Given the description of an element on the screen output the (x, y) to click on. 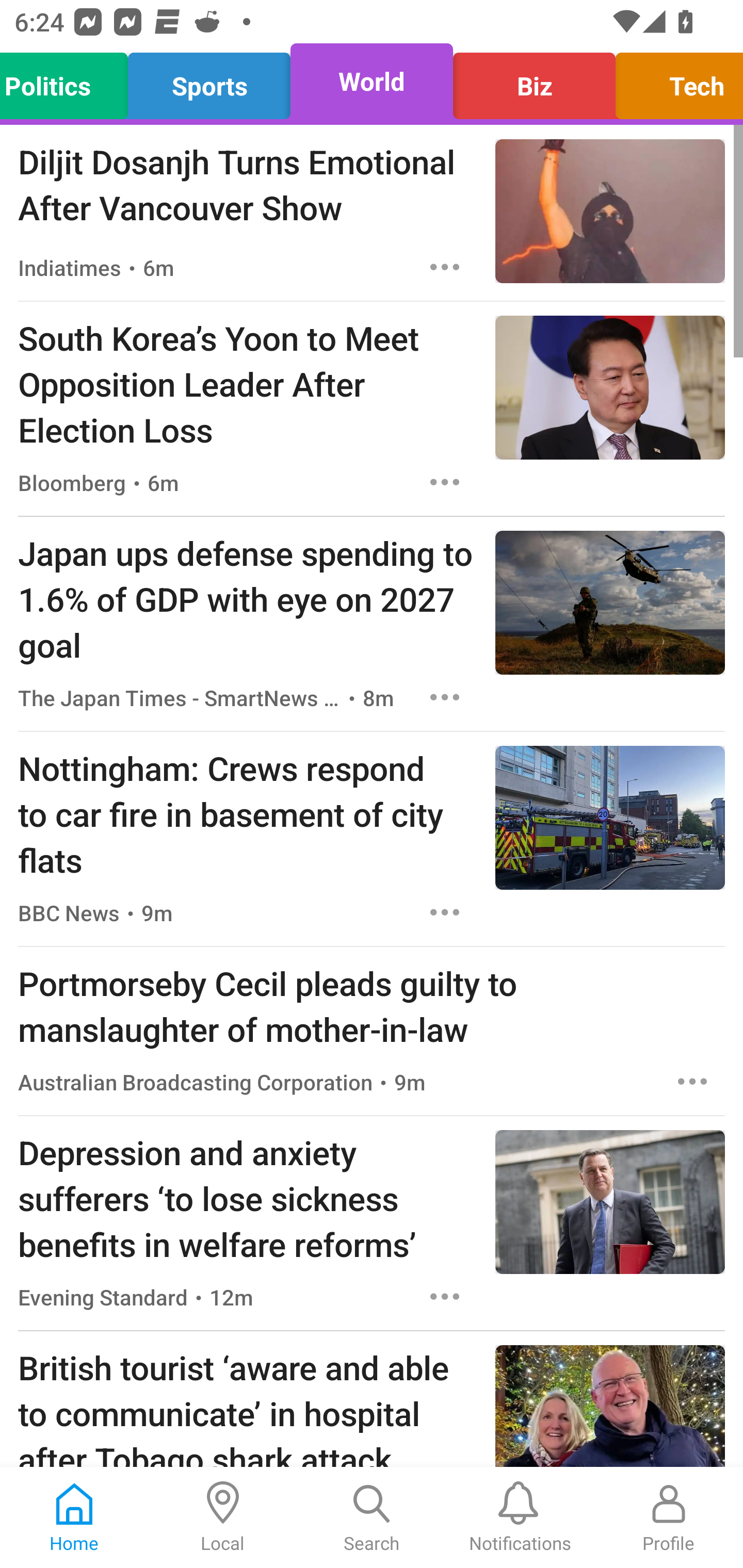
Politics (69, 81)
Sports (209, 81)
World (371, 81)
Biz (534, 81)
Tech (673, 81)
Options (444, 267)
Options (444, 481)
Options (444, 697)
Options (444, 912)
Options (692, 1081)
Options (444, 1296)
Local (222, 1517)
Search (371, 1517)
Notifications (519, 1517)
Profile (668, 1517)
